Given the description of an element on the screen output the (x, y) to click on. 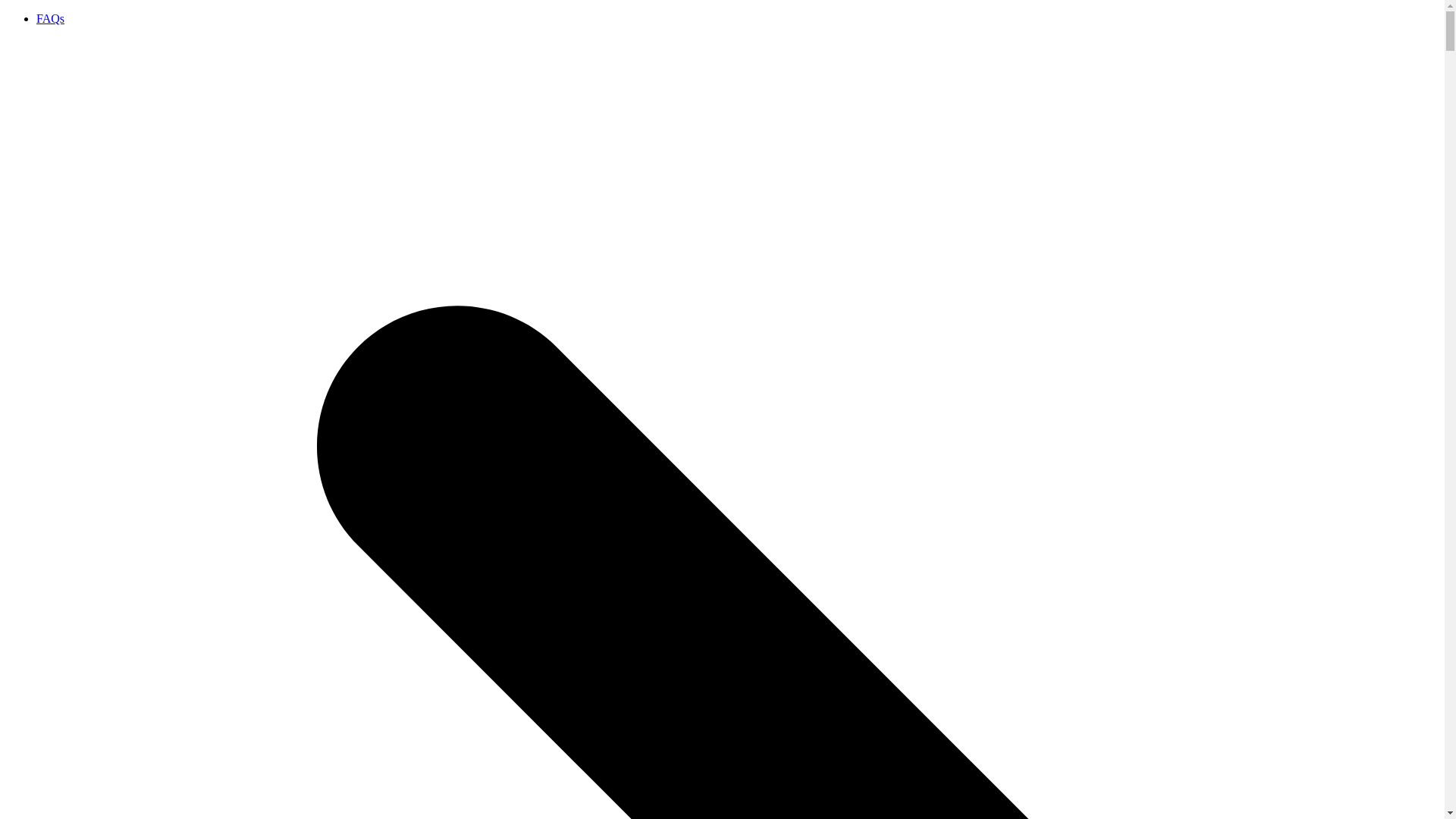
FAQs (50, 18)
